Given the description of an element on the screen output the (x, y) to click on. 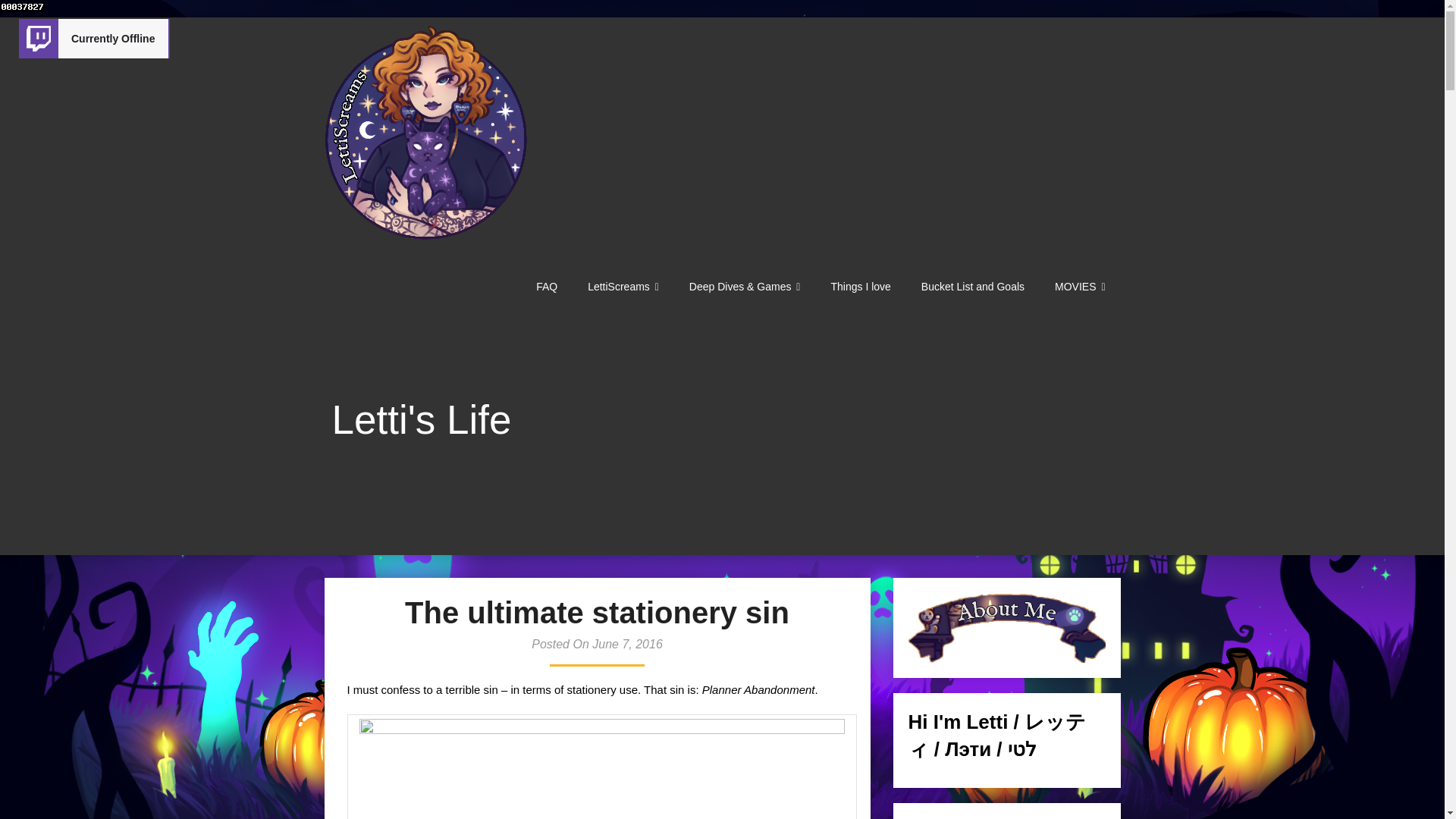
FAQ (546, 287)
Bucket List and Goals (972, 287)
Things I love (860, 287)
MOVIES (1079, 287)
LettiScreams (623, 287)
